Given the description of an element on the screen output the (x, y) to click on. 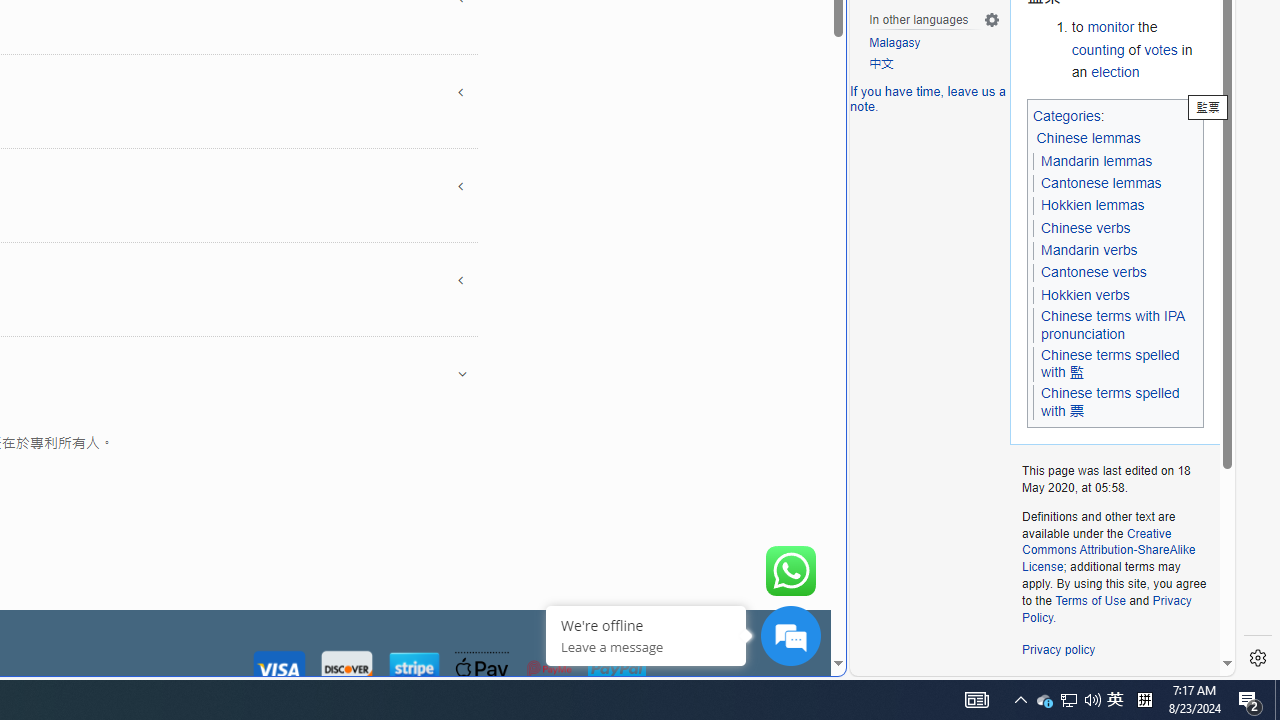
election (1115, 71)
Mandarin verbs (1088, 250)
Cantonese lemmas (1100, 183)
Cantonese verbs (1093, 272)
Creative Commons Attribution-ShareAlike License (1108, 550)
Cantonese verbs (1093, 273)
Chinese lemmas (1090, 139)
Chinese terms with IPA pronunciation (1112, 325)
votes (1160, 49)
